Given the description of an element on the screen output the (x, y) to click on. 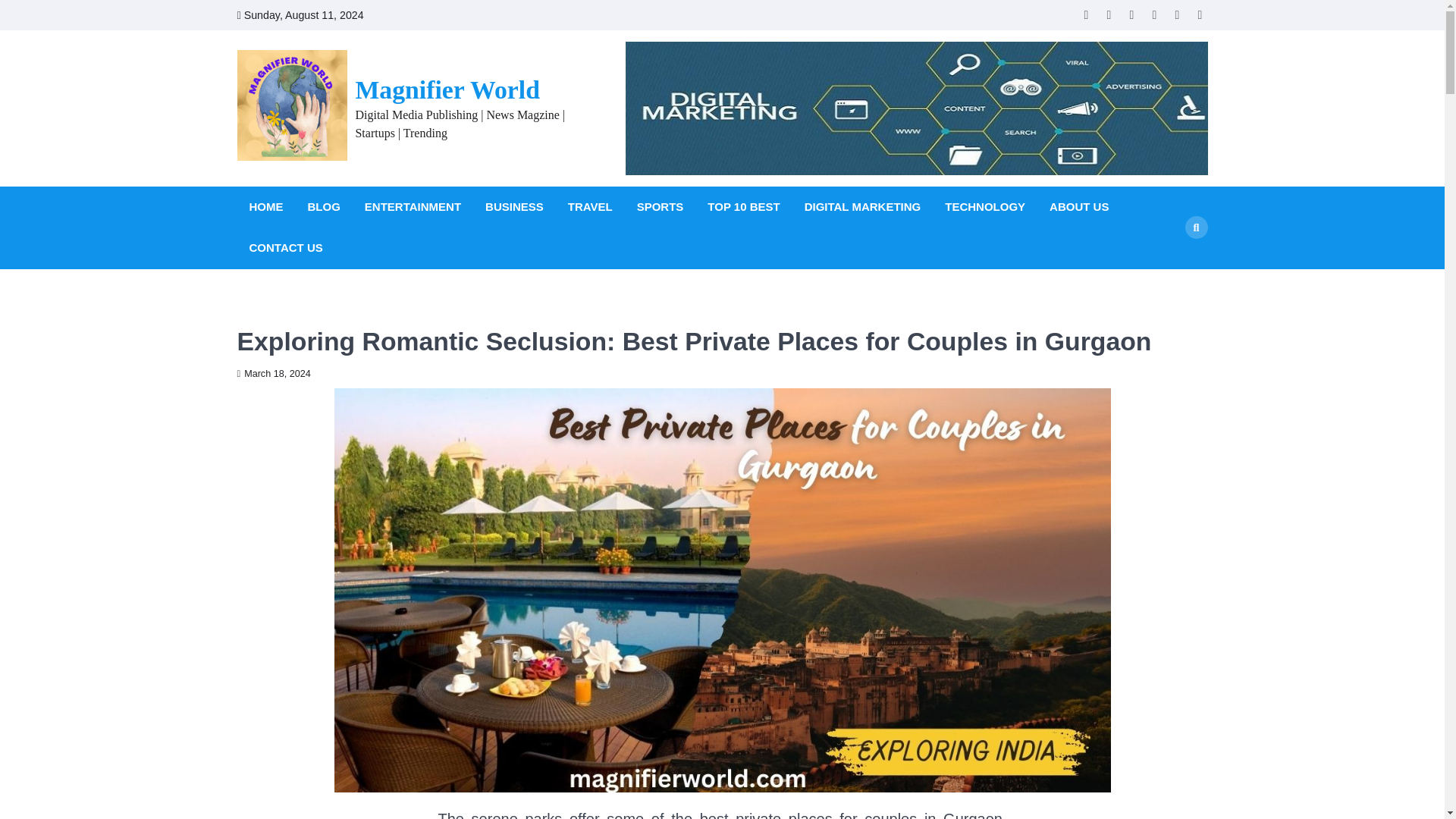
Search (1168, 262)
March 18, 2024 (272, 373)
ENTERTAINMENT (412, 207)
HOME (265, 207)
TECHNOLOGY (984, 207)
Magnifier World (446, 90)
Search (1196, 227)
SPORTS (660, 207)
CONTACT US (286, 248)
DIGITAL MARKETING (862, 207)
